Given the description of an element on the screen output the (x, y) to click on. 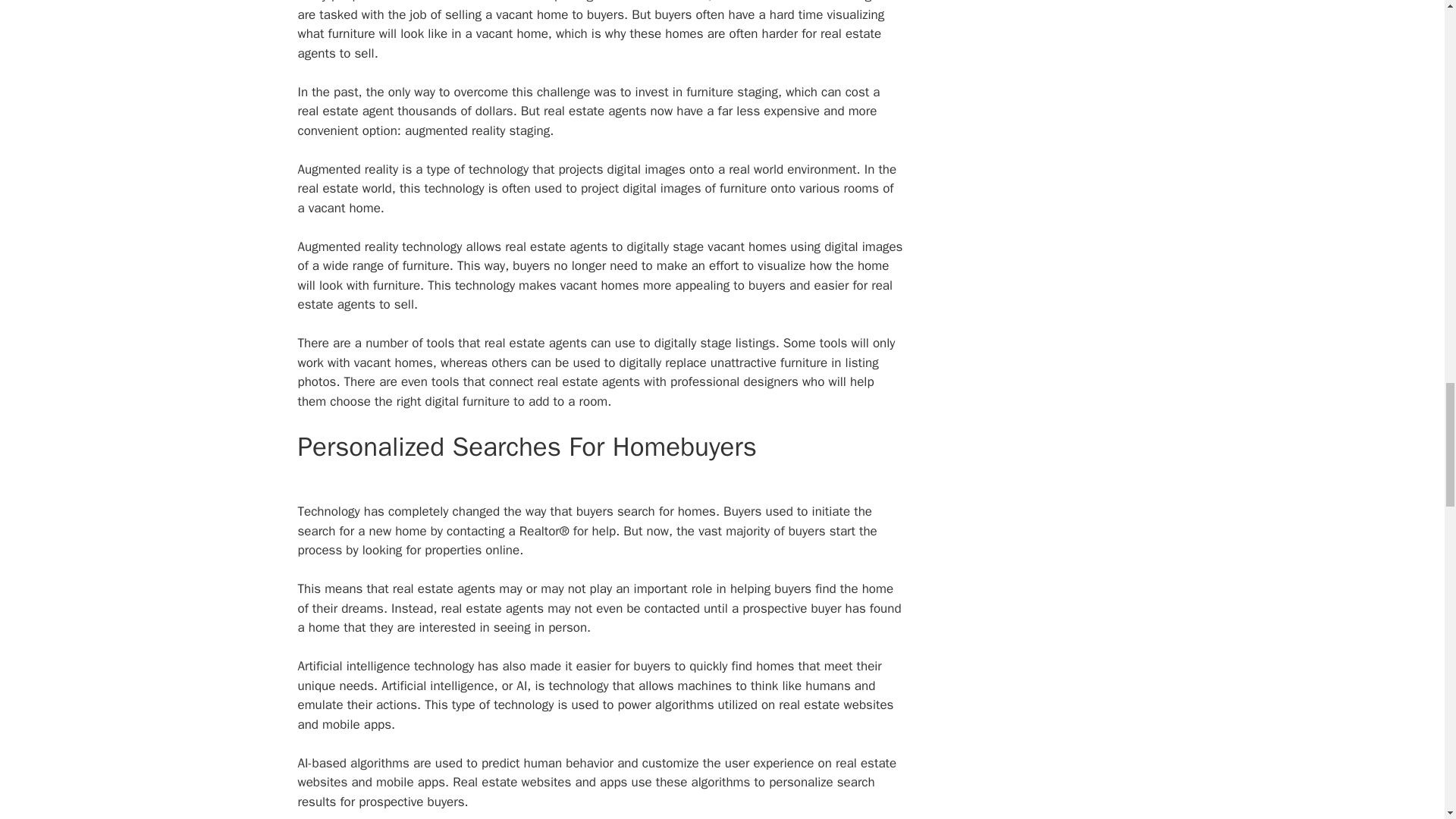
augmented reality staging (477, 130)
vast majority of buyers (761, 530)
real estate (535, 246)
Augmented reality (347, 169)
digitally stage listings (714, 342)
